Given the description of an element on the screen output the (x, y) to click on. 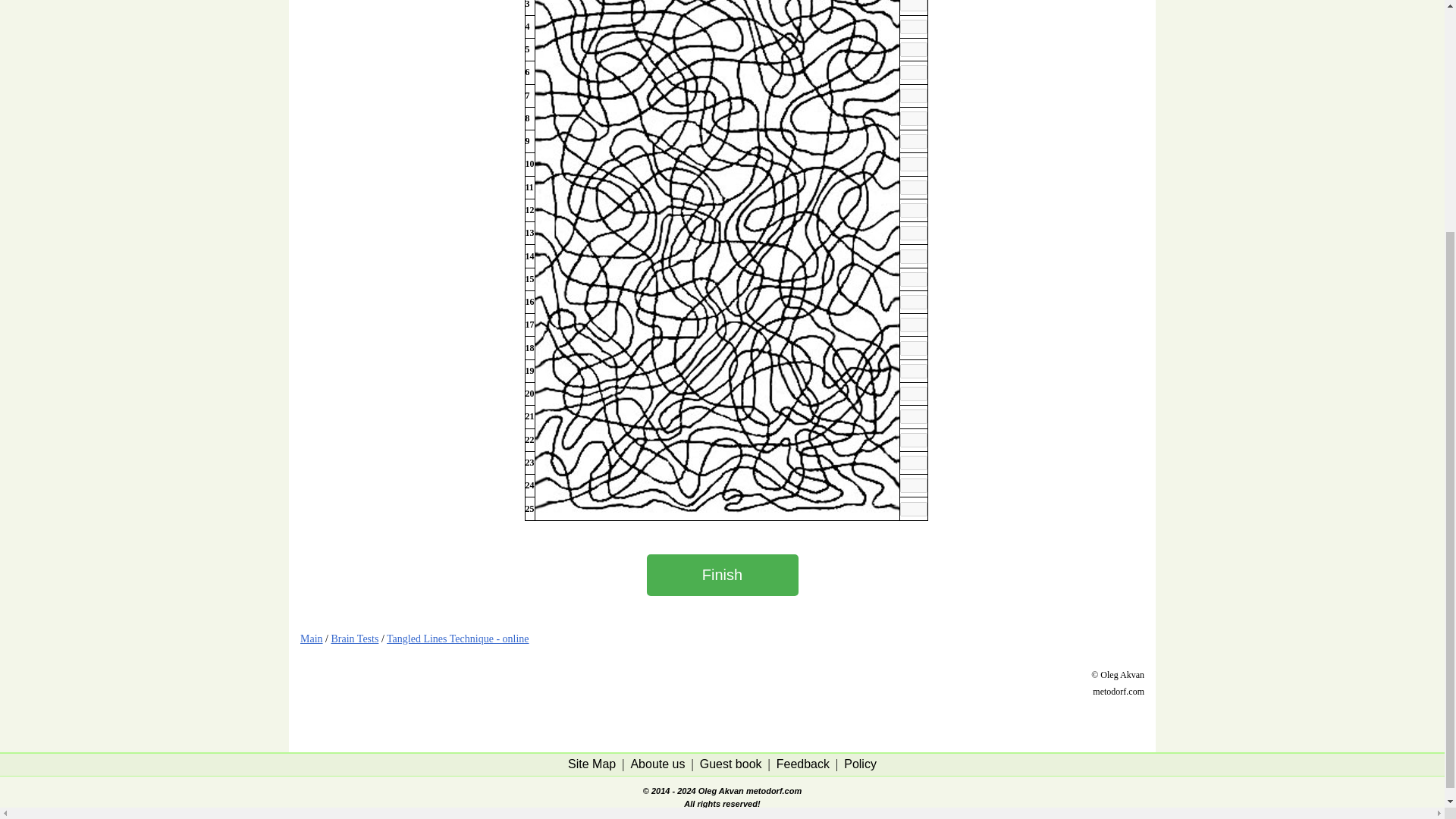
Guest book (730, 763)
Aboute us (657, 763)
Finish (721, 575)
Feedback (802, 763)
Main (311, 638)
Tangled Lines Technique - online (458, 638)
Site Map (591, 763)
Brain Tests (354, 638)
Policy (860, 763)
